Given the description of an element on the screen output the (x, y) to click on. 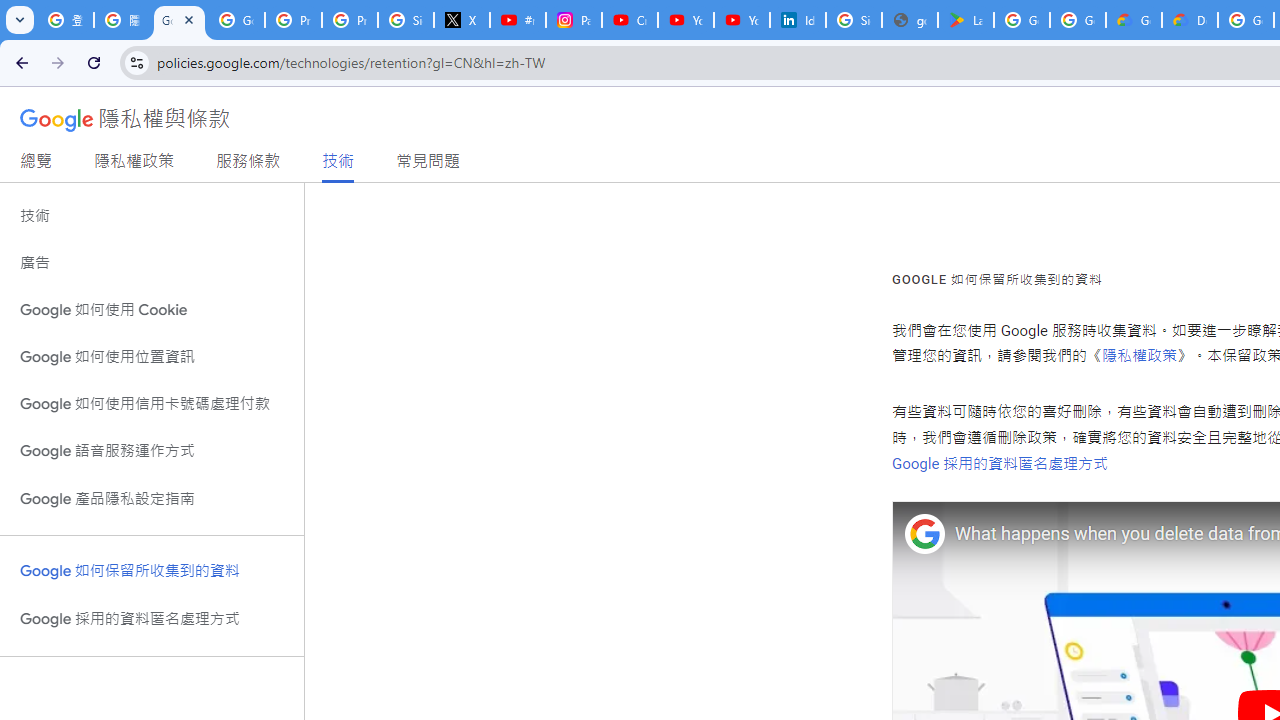
Last Shelter: Survival - Apps on Google Play (966, 20)
Sign in - Google Accounts (405, 20)
#nbabasketballhighlights - YouTube (518, 20)
YouTube Culture & Trends - YouTube Top 10, 2021 (742, 20)
